Given the description of an element on the screen output the (x, y) to click on. 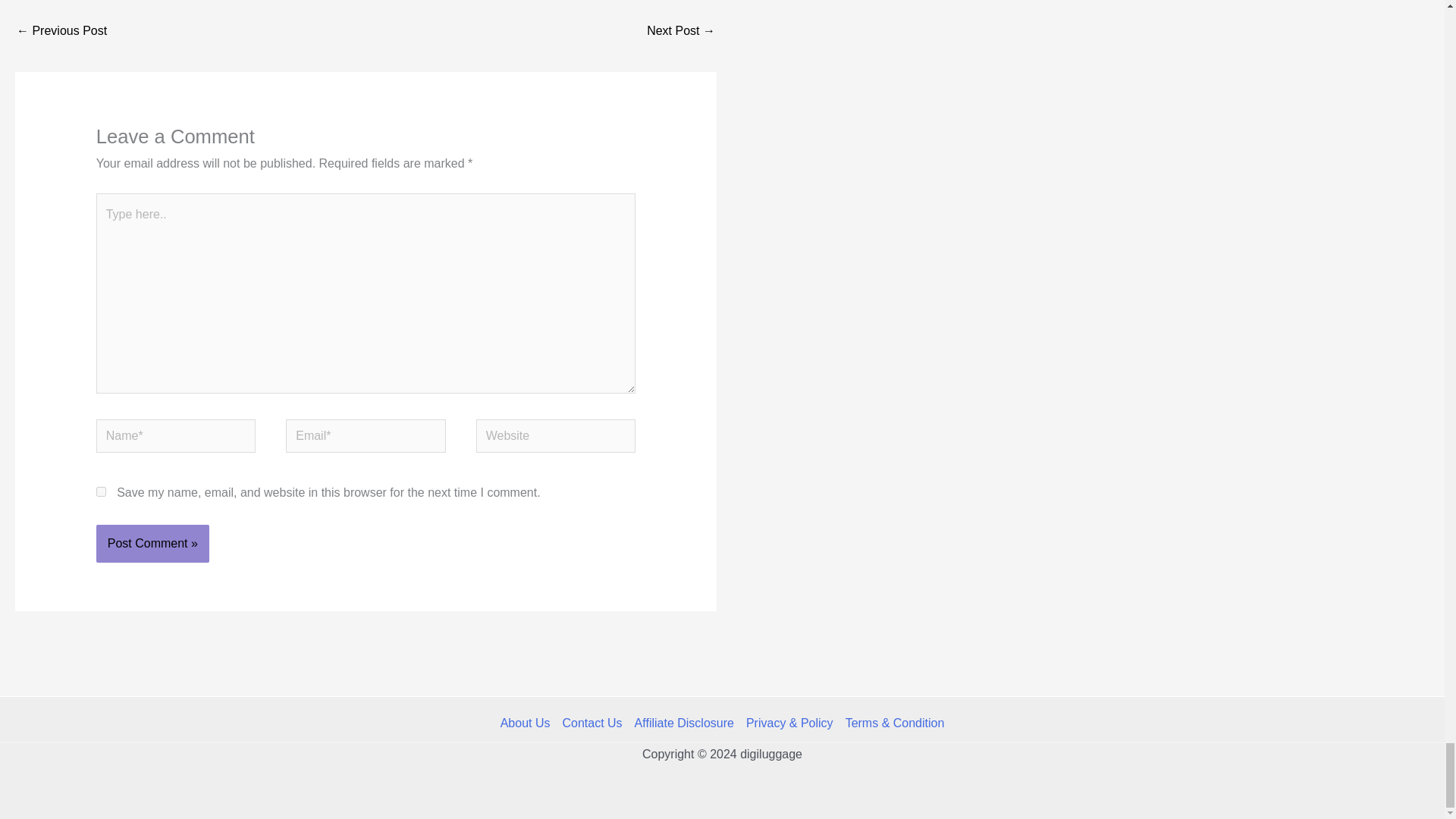
The Average Backpack Weight: How Much Does It Really Weigh (680, 31)
The Essential Guide to What Is Allowed in a Carry On Bag (61, 31)
yes (101, 491)
